Given the description of an element on the screen output the (x, y) to click on. 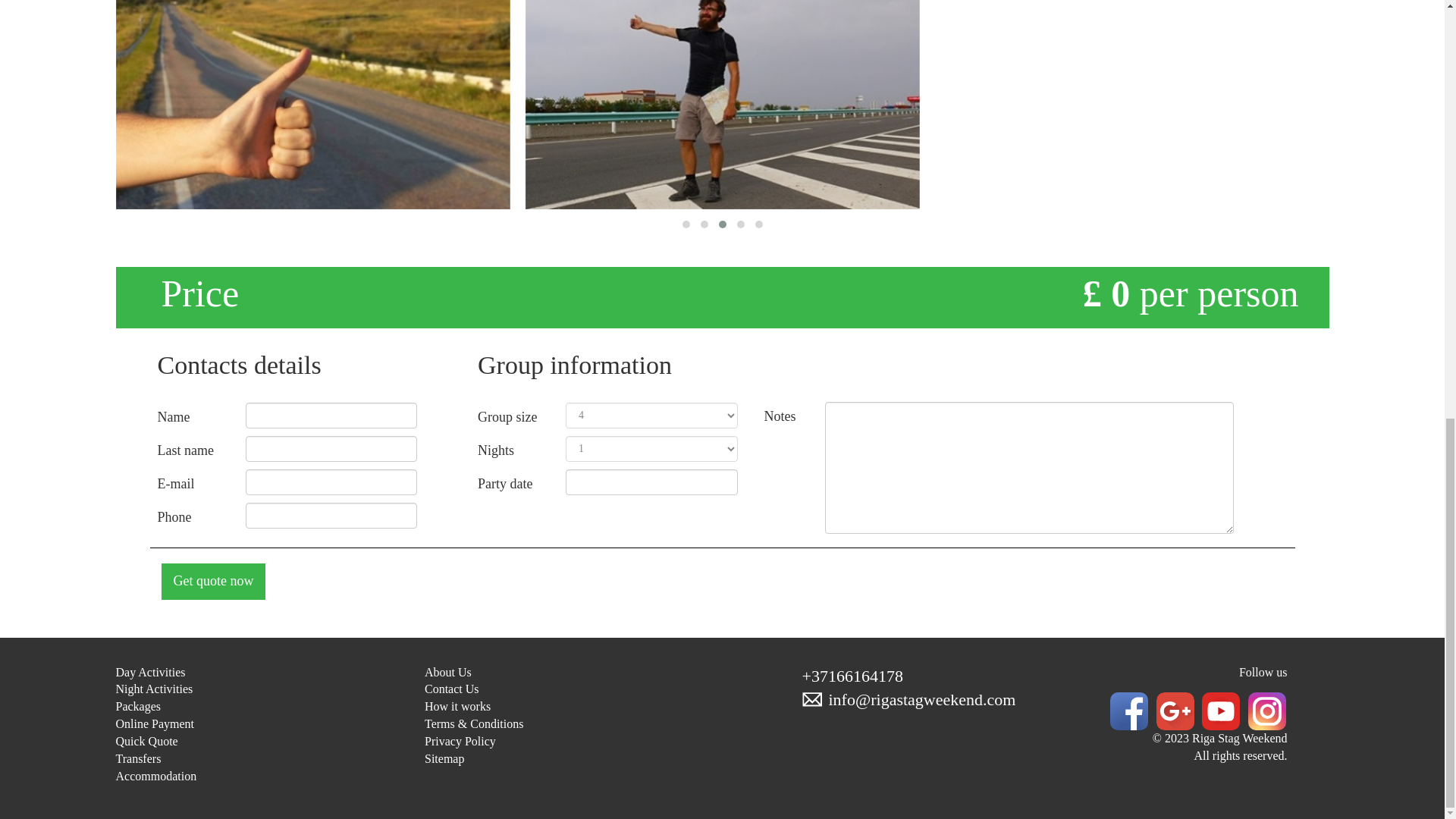
Transfers (137, 758)
Quick Quote (146, 740)
Day Activities (149, 671)
Packages (137, 706)
Online Payment (154, 723)
Accommodation (155, 775)
Online Payment (154, 723)
Quick Quote (146, 740)
Night Activities (153, 688)
Day Activities (149, 671)
Get quote now (212, 581)
Night Activities (153, 688)
About Us (448, 671)
Packages (137, 706)
Transfers (137, 758)
